Given the description of an element on the screen output the (x, y) to click on. 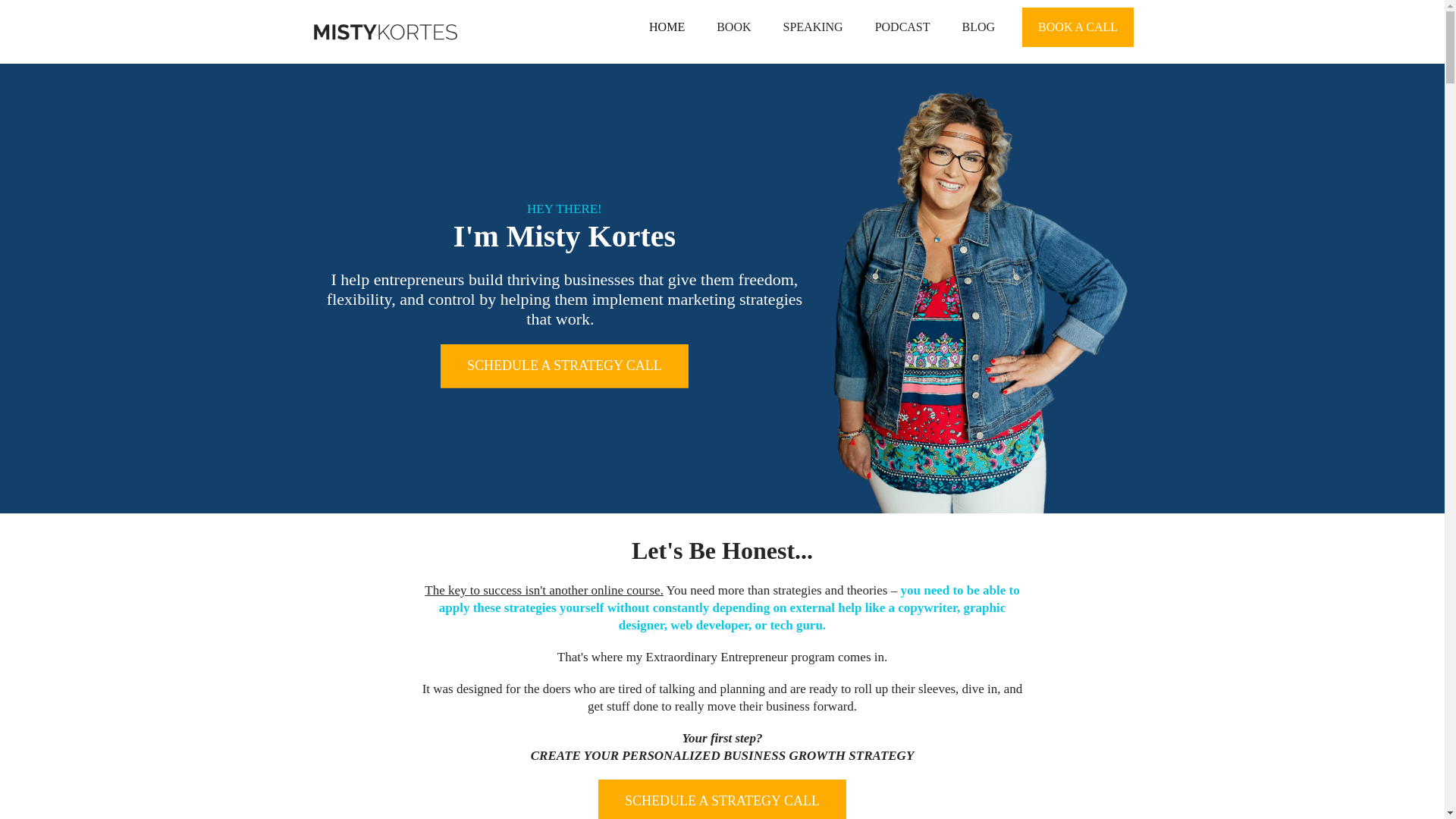
HOME (666, 27)
SPEAKING (813, 27)
BLOG (978, 27)
PODCAST (902, 27)
BOOK A CALL (1078, 27)
SCHEDULE A STRATEGY CALL (721, 799)
BOOK (733, 27)
SCHEDULE A STRATEGY CALL (564, 365)
